Given the description of an element on the screen output the (x, y) to click on. 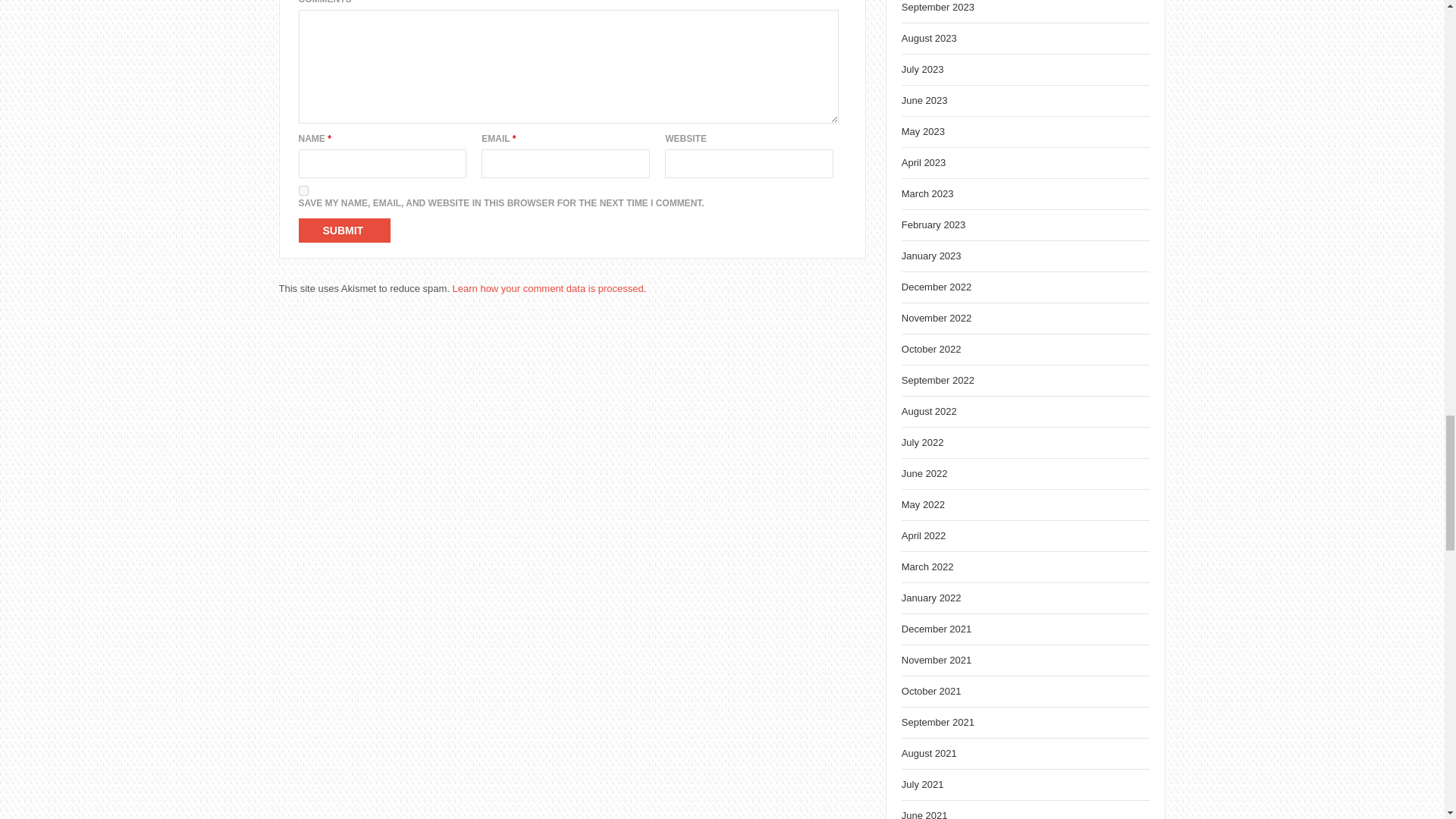
Learn how your comment data is processed (547, 288)
yes (303, 190)
Submit  (344, 230)
Submit  (344, 230)
